Given the description of an element on the screen output the (x, y) to click on. 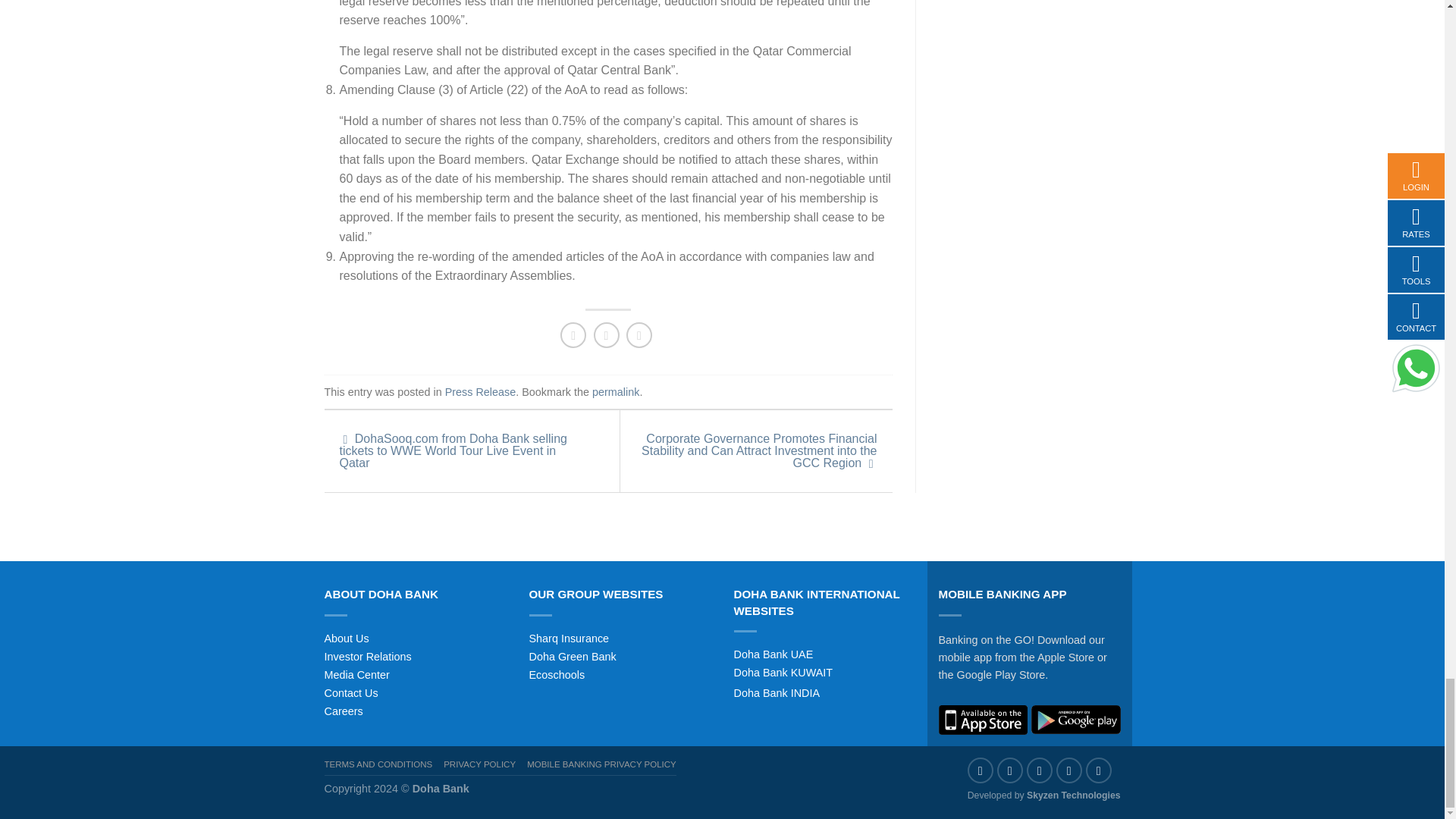
permalink (615, 391)
Press Release (480, 391)
